Given the description of an element on the screen output the (x, y) to click on. 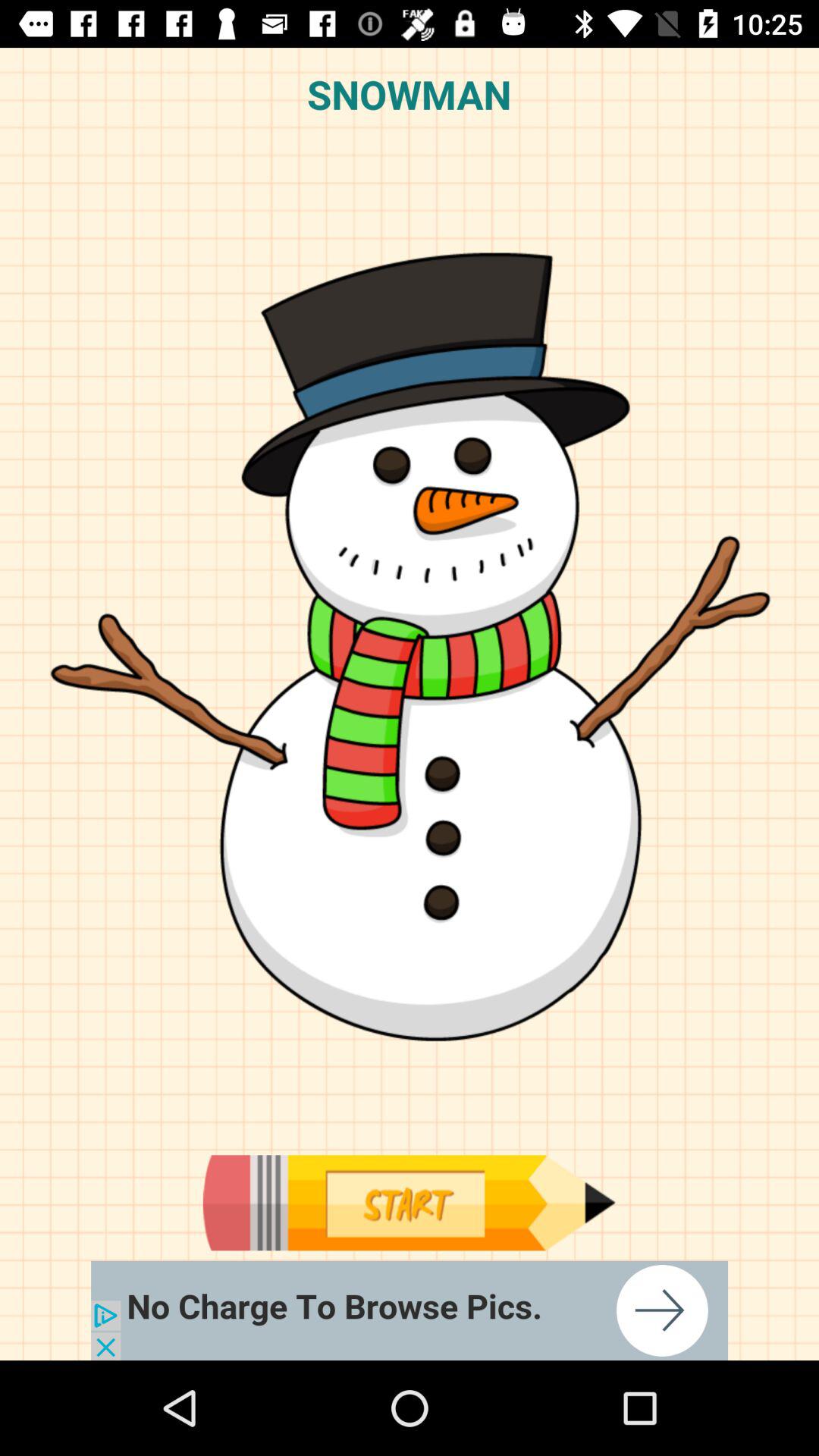
advertisement link image (409, 1310)
